Given the description of an element on the screen output the (x, y) to click on. 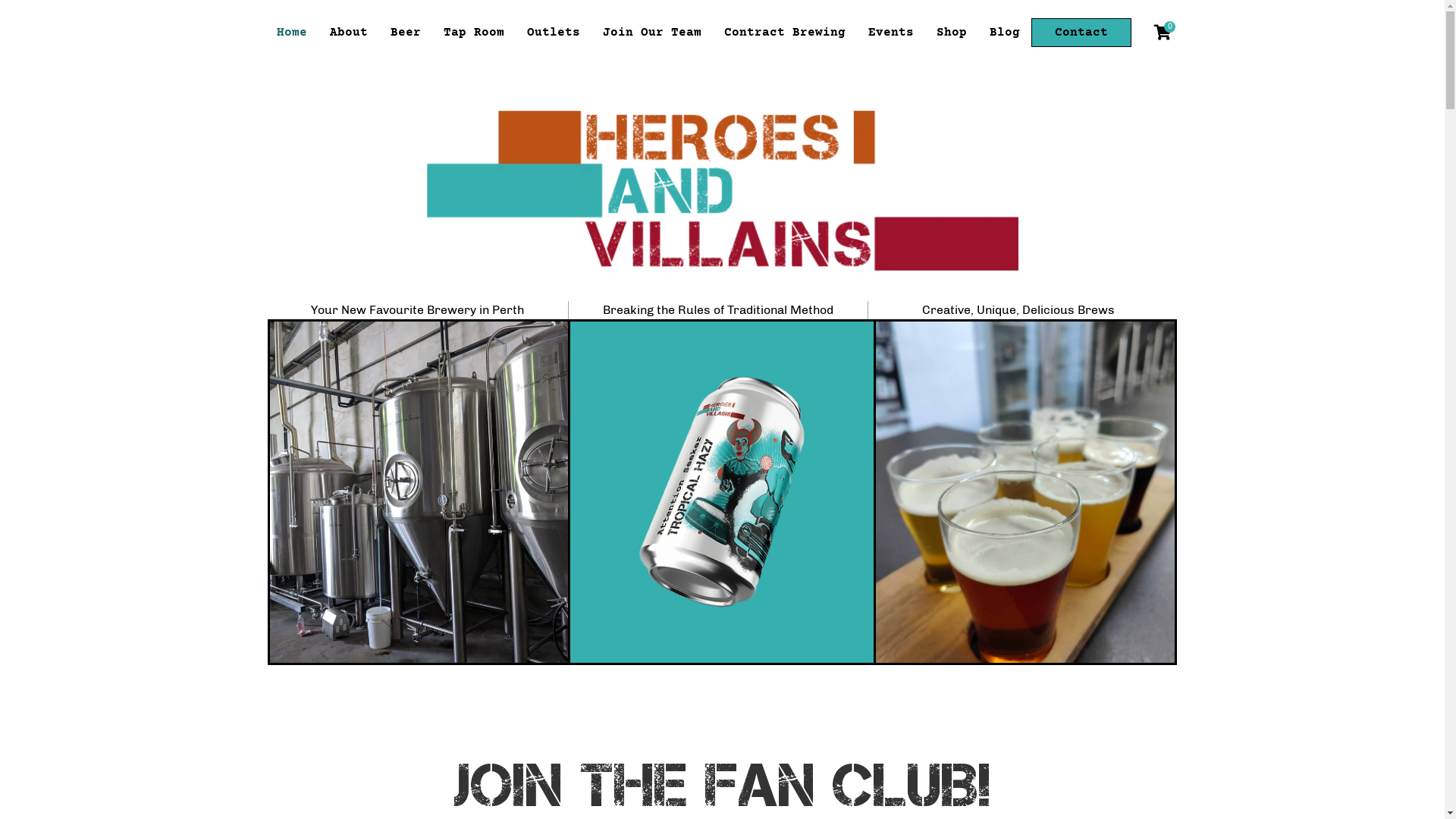
Tap Room Element type: text (473, 32)
Outlets Element type: text (553, 32)
Events Element type: text (890, 32)
About Element type: text (348, 32)
Home Element type: text (291, 32)
Join Our Team Element type: text (651, 32)
0 Element type: text (1162, 32)
Blog Element type: text (1004, 32)
Contact Element type: text (1081, 32)
Beer Element type: text (405, 32)
Shop Element type: text (951, 32)
Contract Brewing Element type: text (784, 32)
